Given the description of an element on the screen output the (x, y) to click on. 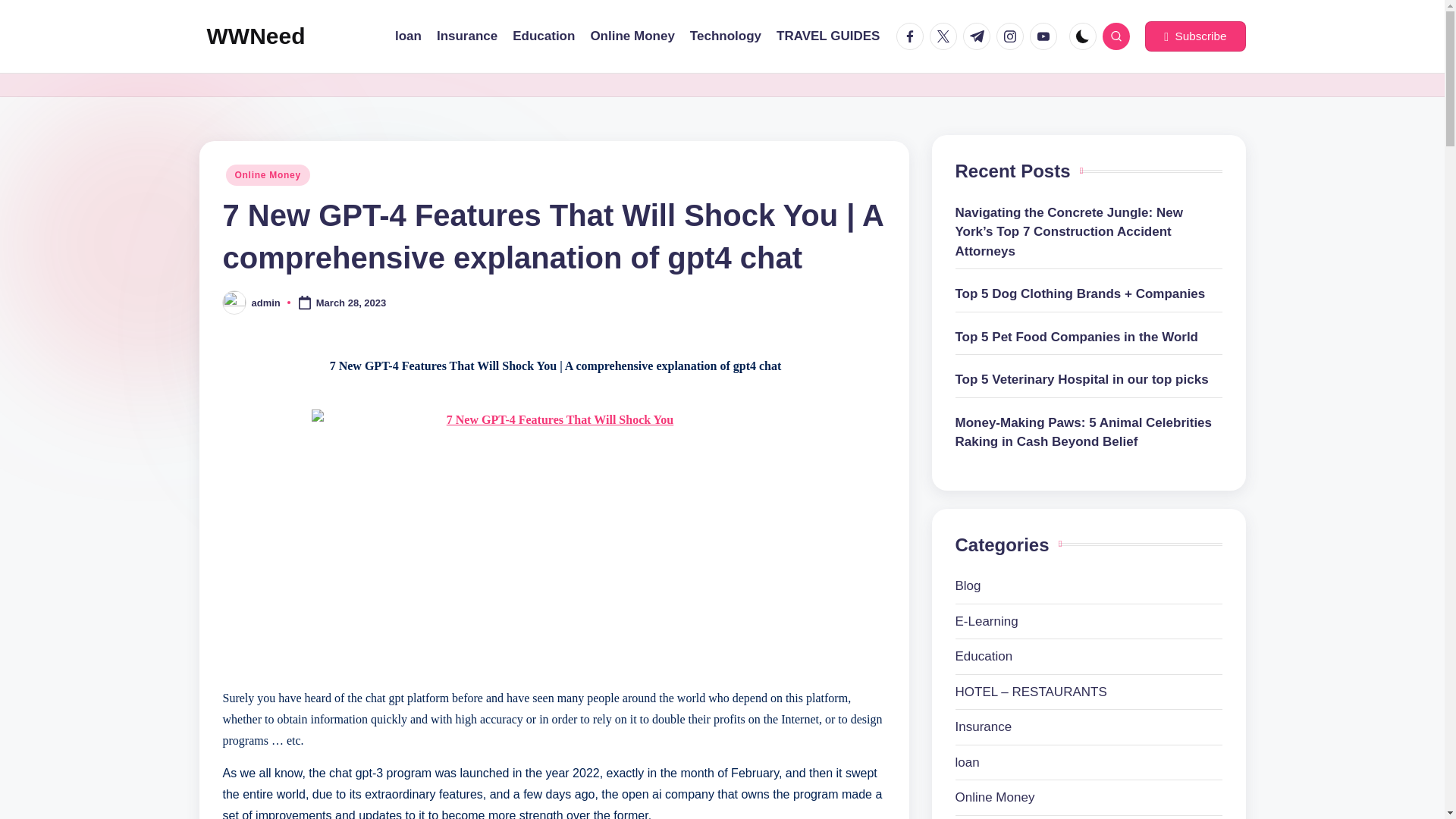
Education (1089, 656)
7 New GPT-4 Features That Will Shock You (553, 532)
Blog (1089, 586)
twitter.com (946, 35)
facebook.com (913, 35)
View all posts by admin (266, 302)
Education (543, 36)
instagram.com (1012, 35)
Top 5 Pet Food Companies in the World (1089, 337)
youtube.com (1045, 35)
WWNeed (255, 36)
admin (266, 302)
Top 5 Veterinary Hospital in our top picks (1089, 379)
t.me (978, 35)
